Given the description of an element on the screen output the (x, y) to click on. 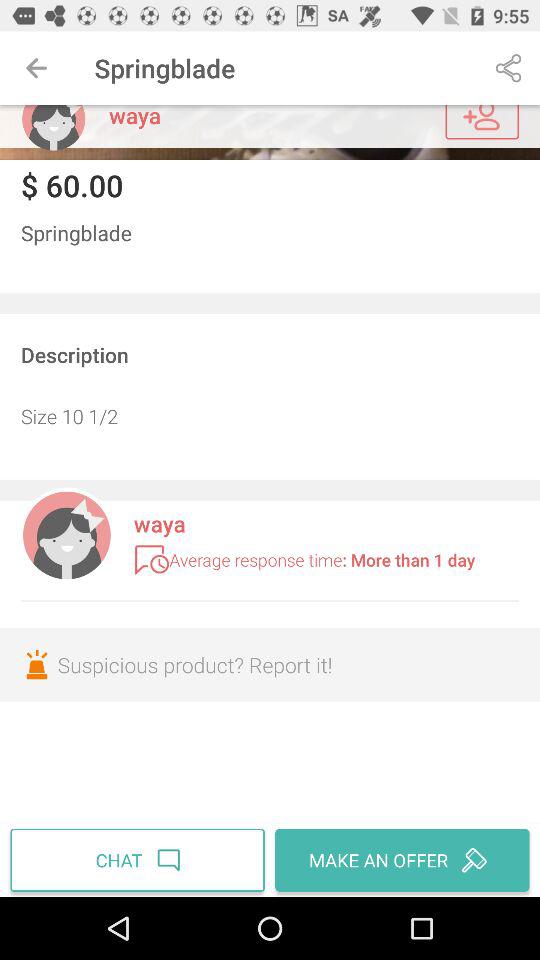
turn on the make an offer item (399, 860)
